Given the description of an element on the screen output the (x, y) to click on. 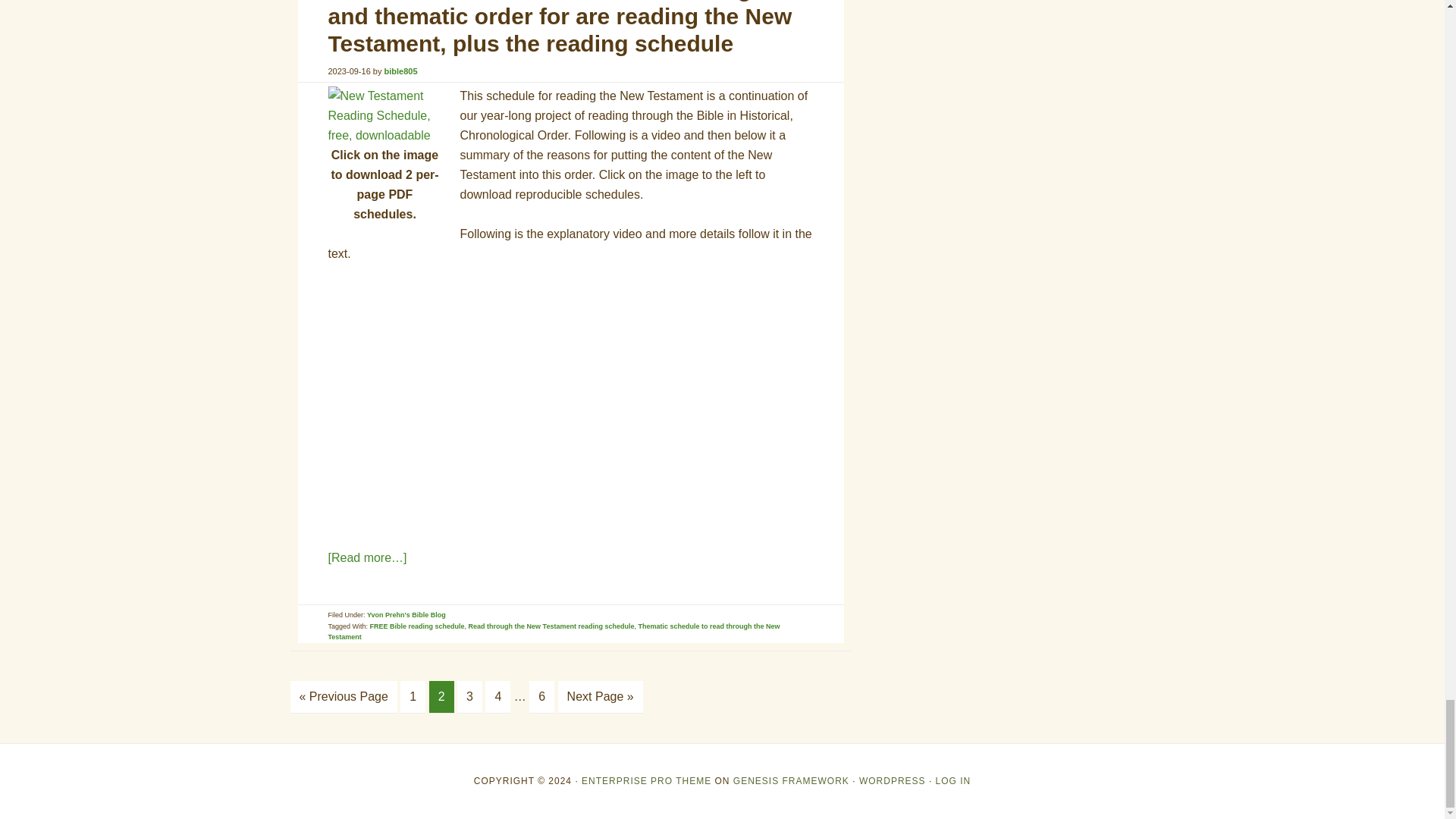
YouTube video player (539, 402)
